Given the description of an element on the screen output the (x, y) to click on. 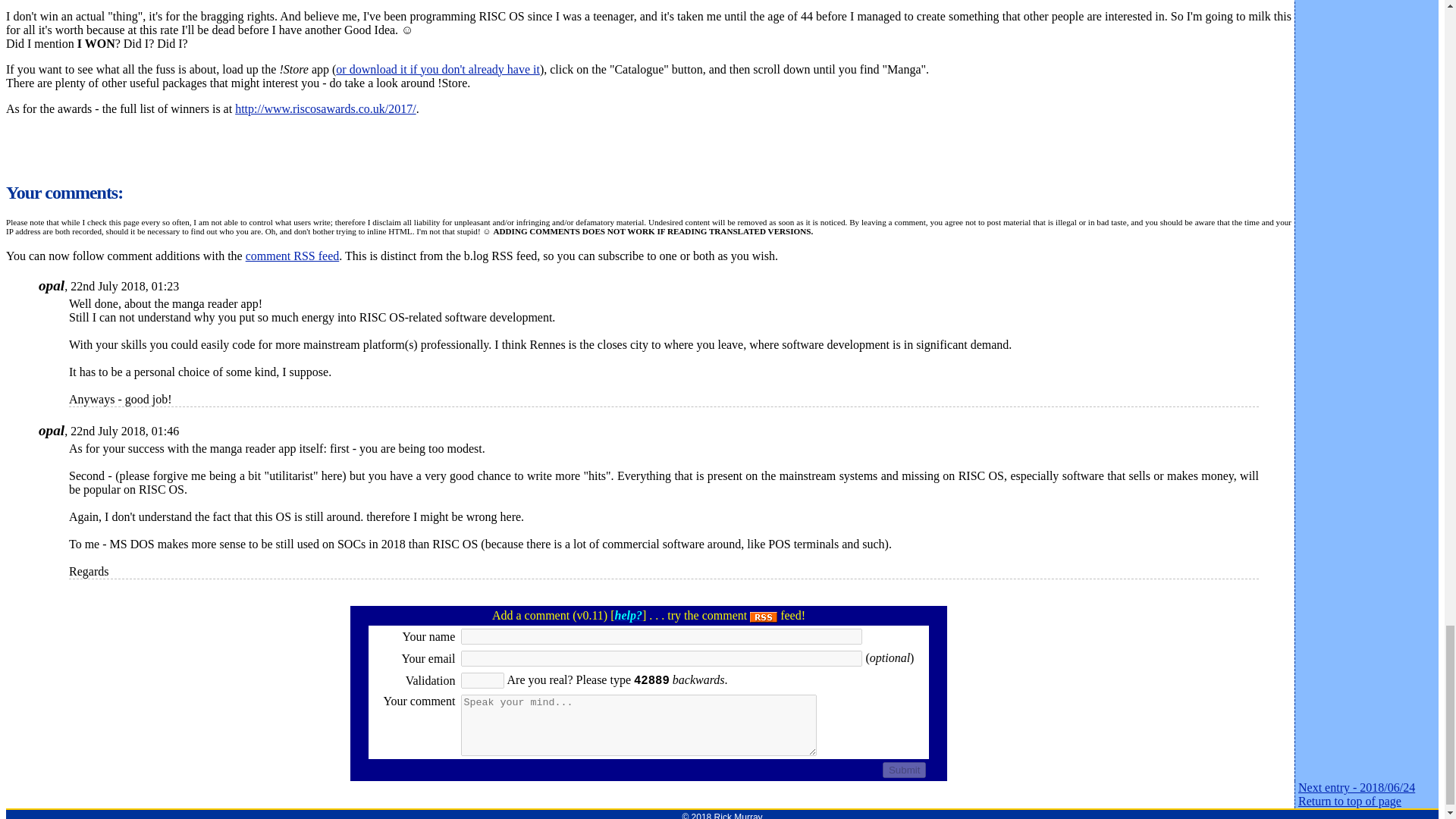
comment RSS feed (292, 255)
Submit (904, 770)
help? (628, 615)
Submit (904, 770)
or download it if you don't already have it (438, 69)
